Given the description of an element on the screen output the (x, y) to click on. 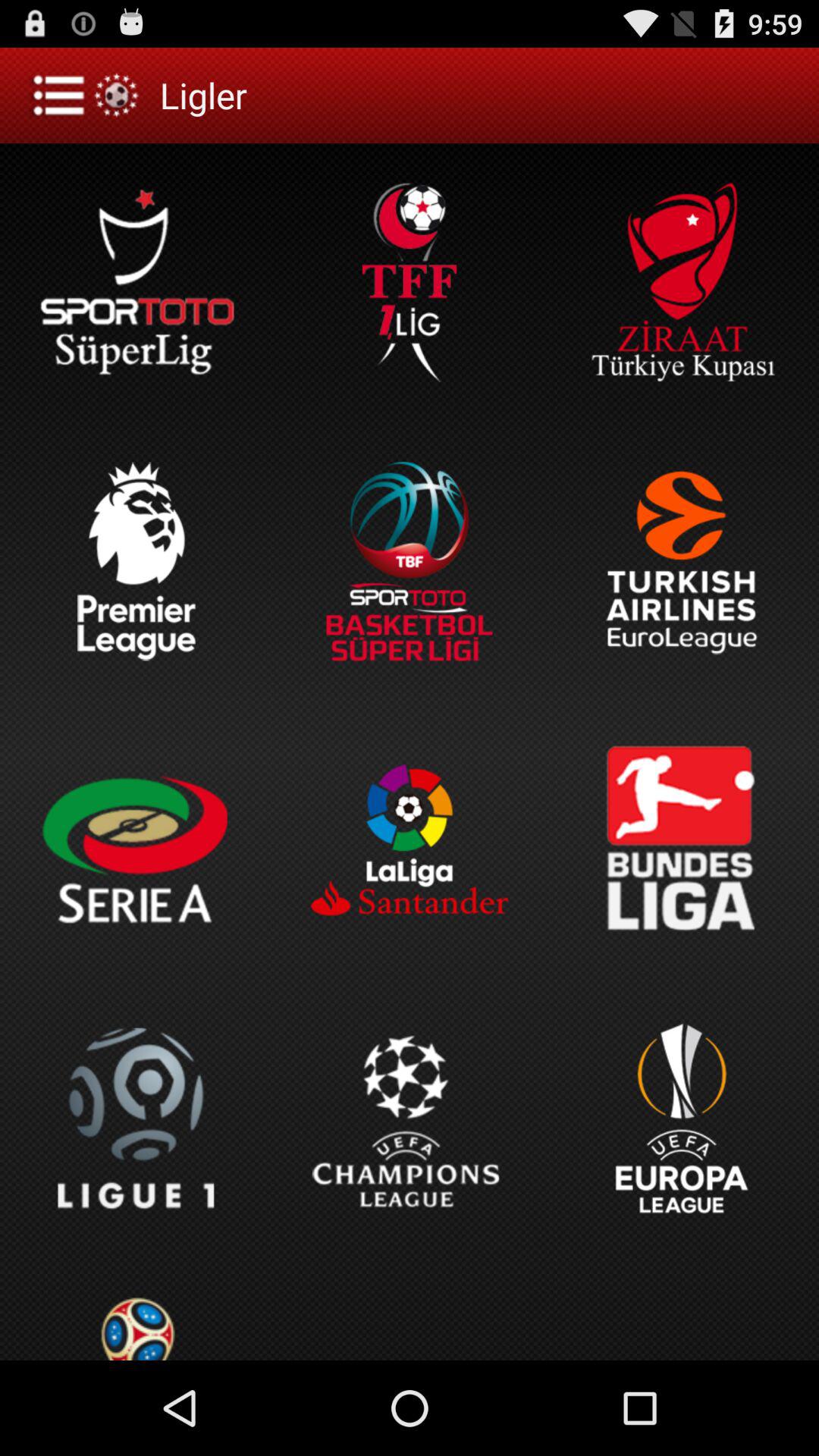
select the icon with a text turkish airlines euroleague (682, 561)
click on uefa europa league (682, 1118)
select the icon right to the text seriea (409, 840)
select basket bol super super ligi (409, 561)
select the first option in the fourth row (135, 1118)
click on the more options image icon t the left of ligler text (87, 95)
click on the option below the premier league (135, 840)
